Given the description of an element on the screen output the (x, y) to click on. 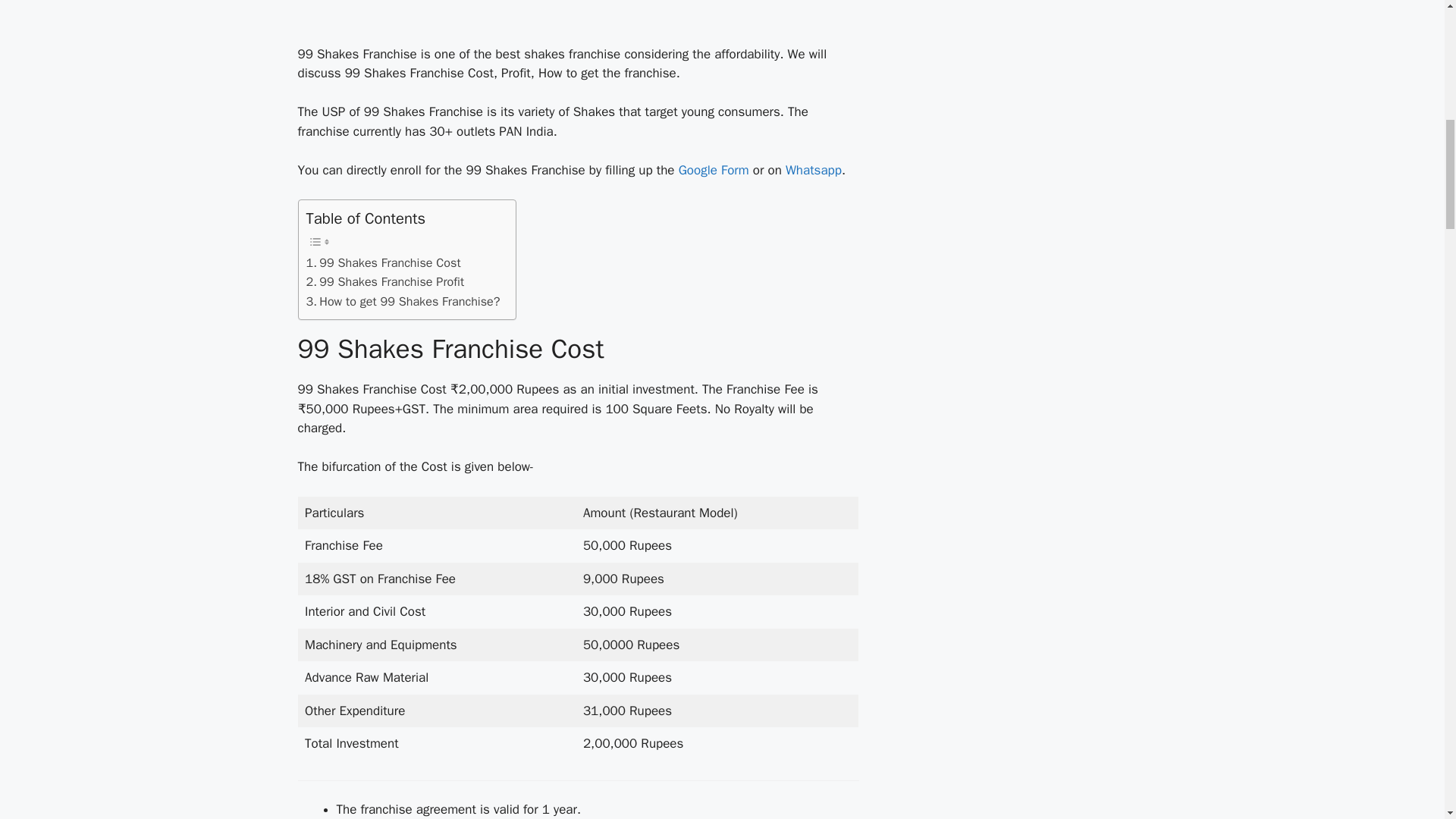
How to get 99 Shakes Franchise? (402, 301)
Whatsapp (813, 170)
Google Form (713, 170)
99 Shakes Franchise Cost (383, 262)
Advertisement (413, 18)
How to get 99 Shakes Franchise? (402, 301)
99 Shakes Franchise Profit (384, 281)
99 Shakes Franchise Cost (383, 262)
99 Shakes Franchise Profit (384, 281)
